Given the description of an element on the screen output the (x, y) to click on. 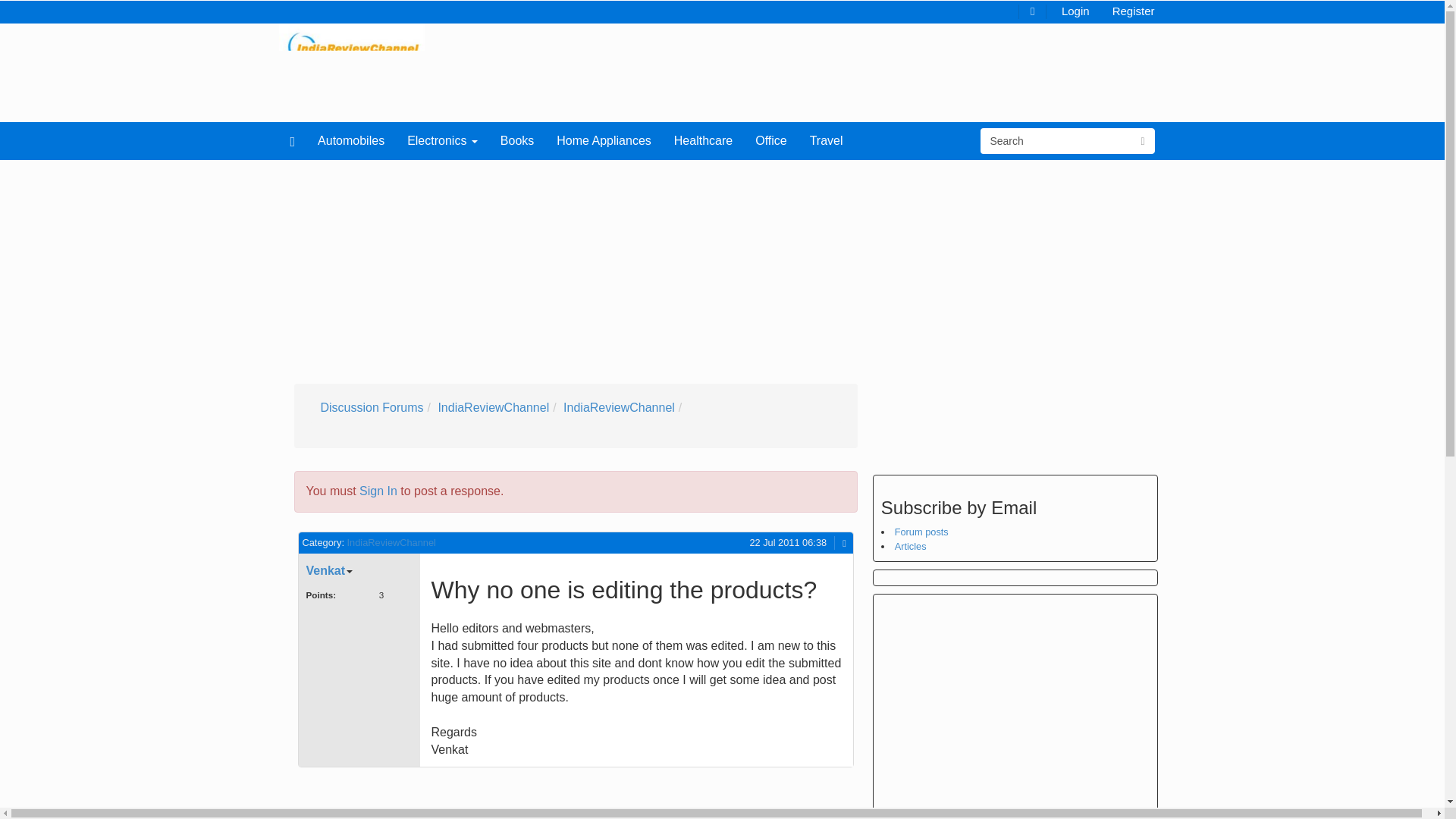
Books (516, 140)
Travel (825, 140)
IndiaReviewChannel (391, 542)
Register (1133, 9)
IndiaReviewChannel.com (352, 46)
IndiaReviewChannel (619, 407)
Electronics (442, 140)
Discussion Forums (371, 407)
Venkat (329, 570)
Search (1055, 140)
Venkat (325, 570)
Home Appliances (603, 140)
Login (1074, 9)
IndiaReviewChannel (493, 407)
Sign In (378, 490)
